Given the description of an element on the screen output the (x, y) to click on. 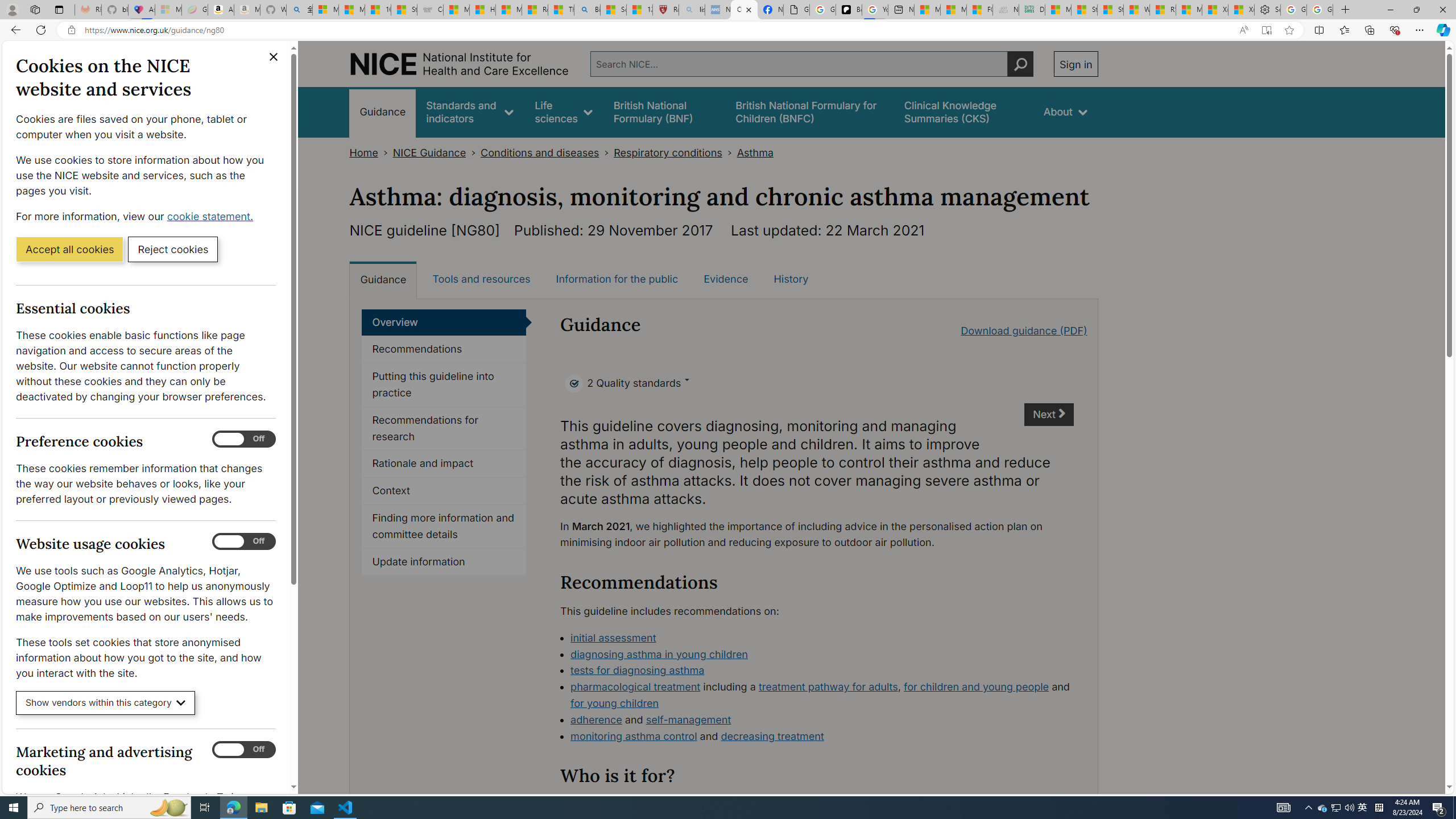
tests for diagnosing asthma (637, 670)
Google Analytics Opt-out Browser Add-on Download Page (795, 9)
Rationale and impact (444, 463)
NICE Guidance> (436, 152)
About (1064, 111)
Stocks - MSN (1110, 9)
Finding more information and committee details (443, 526)
Respiratory conditions> (674, 152)
Perform search (1020, 63)
